Given the description of an element on the screen output the (x, y) to click on. 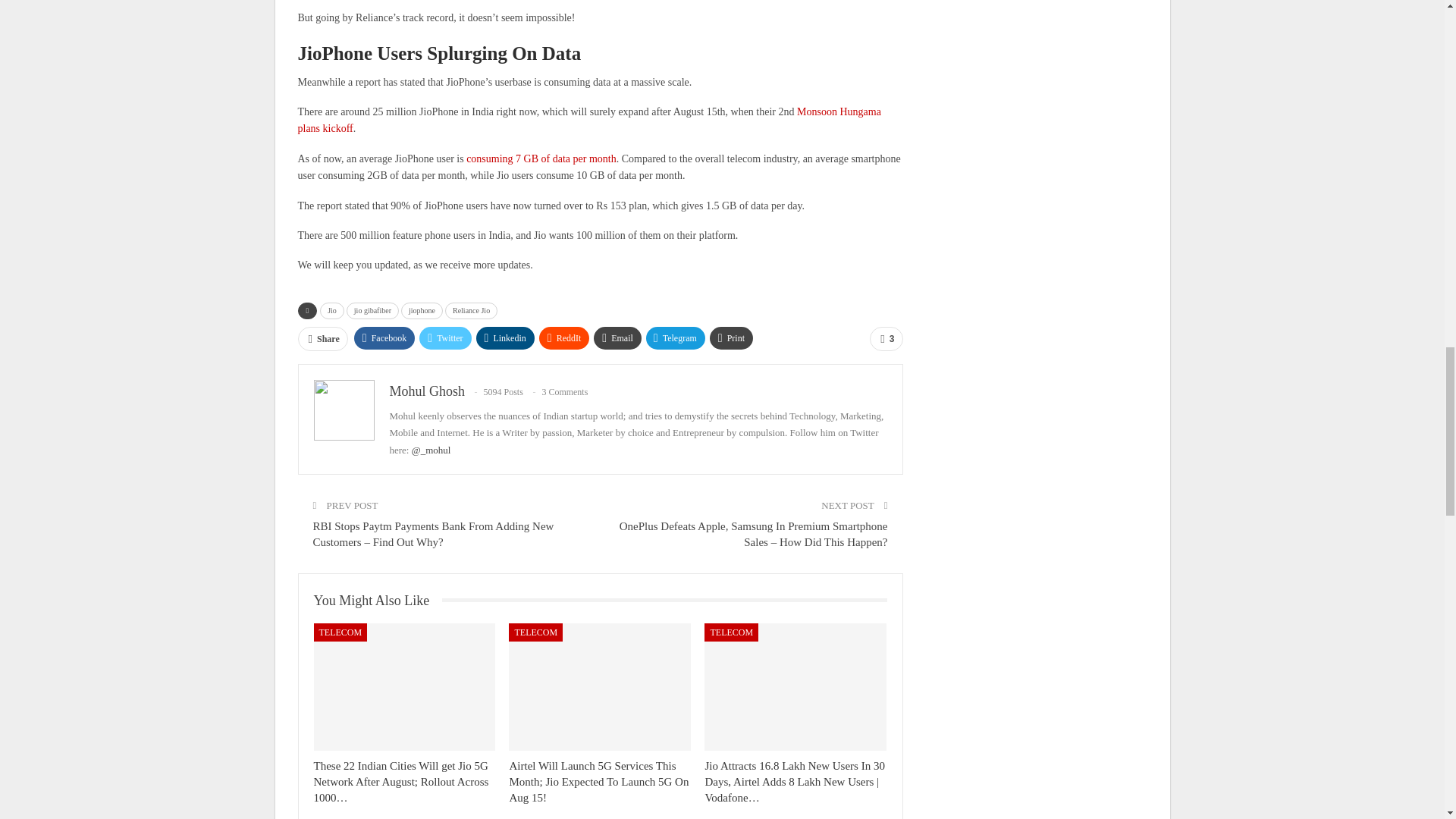
Monsoon Hungama plans kickoff (588, 120)
